Given the description of an element on the screen output the (x, y) to click on. 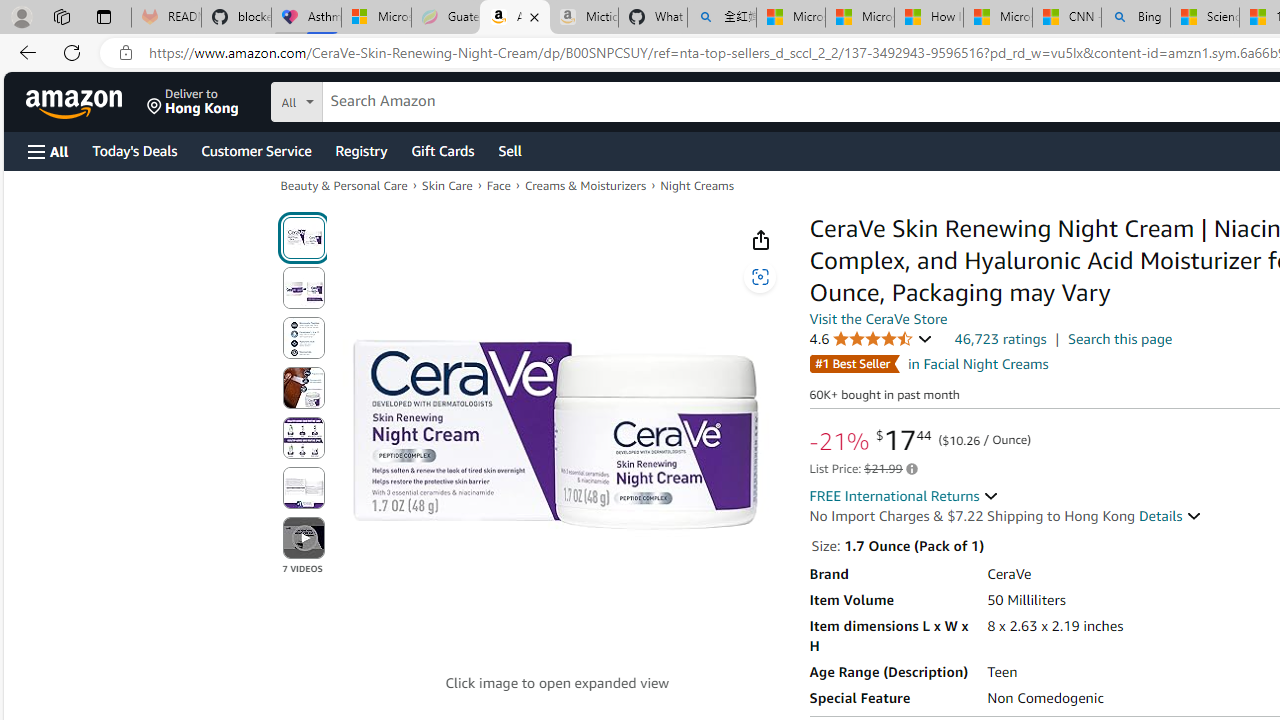
Bing (1135, 17)
Customer Service (256, 150)
Search in (371, 99)
Creams & Moisturizers (584, 185)
Visit the CeraVe Store (878, 319)
Learn more about Amazon pricing and savings (910, 469)
Beauty & Personal Care (344, 185)
